Given the description of an element on the screen output the (x, y) to click on. 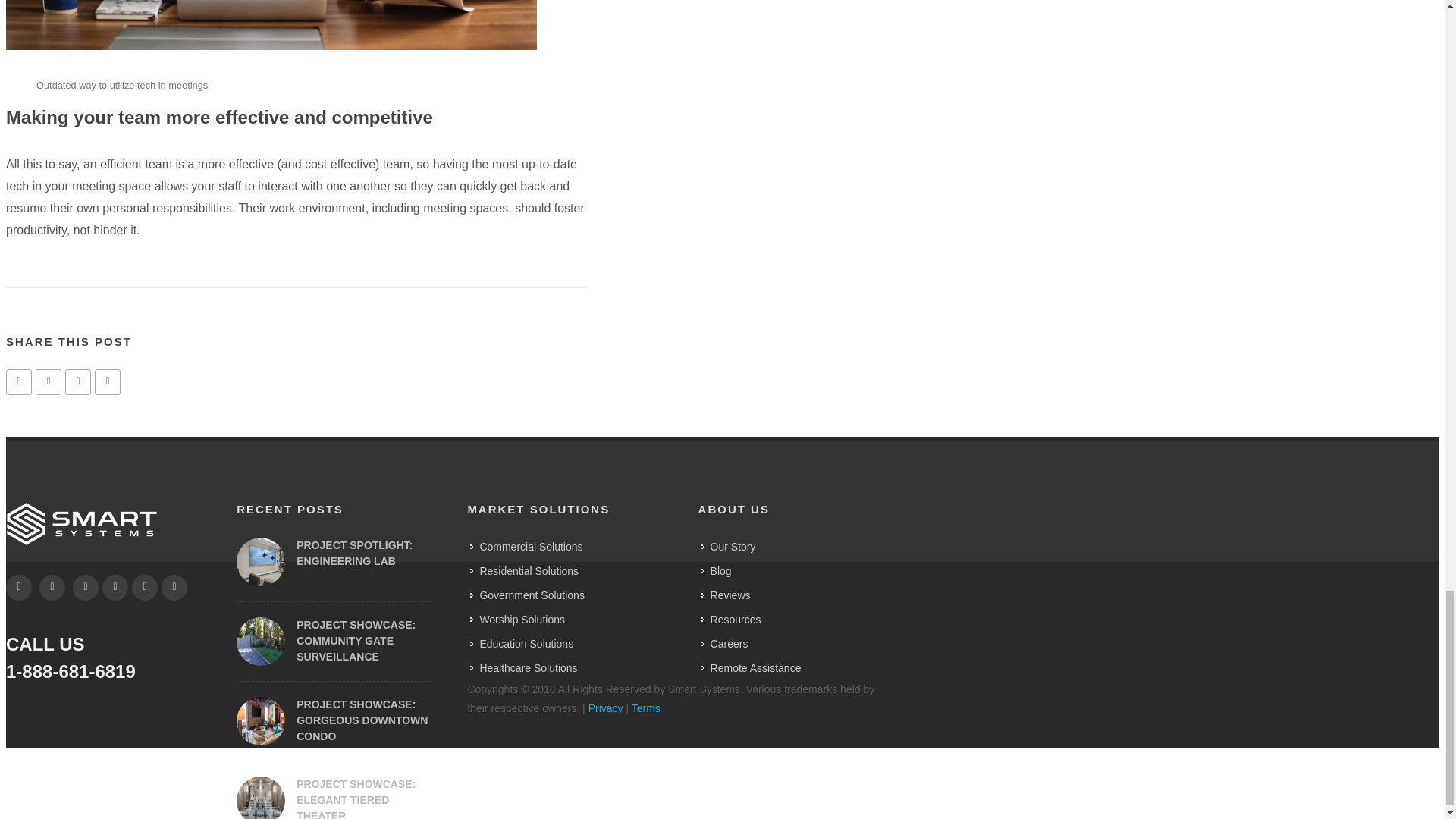
Instagram (114, 587)
Flickr (174, 587)
Twitter (144, 587)
LinkedIn (85, 587)
